Given the description of an element on the screen output the (x, y) to click on. 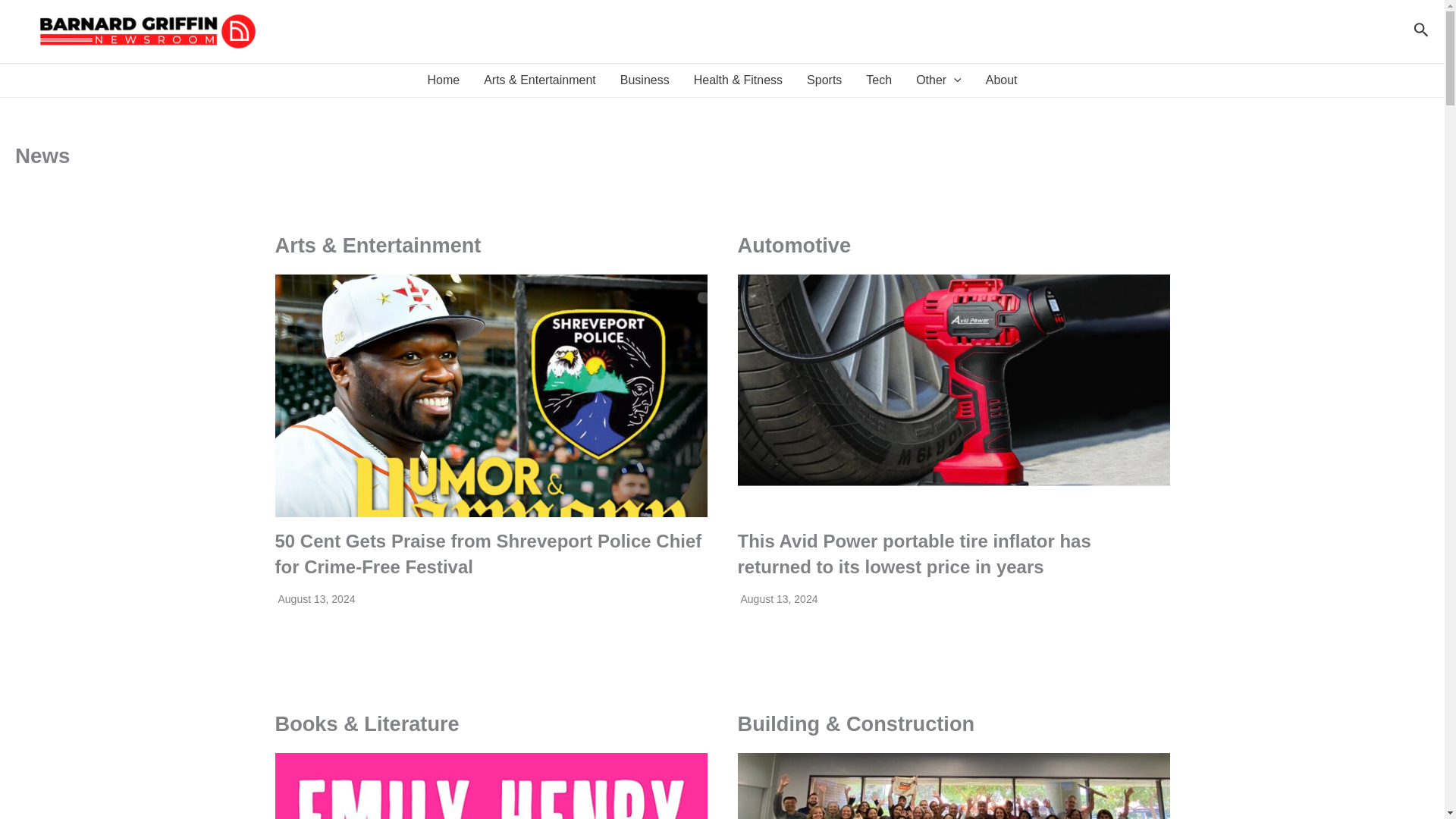
About (1001, 80)
Other (939, 80)
Tech (878, 80)
Home (442, 80)
Business (644, 80)
Sports (823, 80)
